Given the description of an element on the screen output the (x, y) to click on. 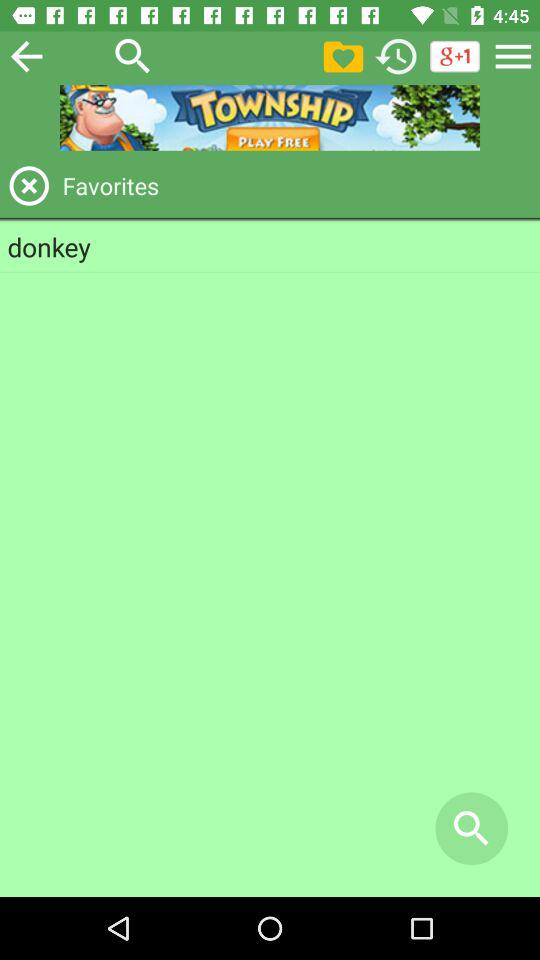
exit favorites (29, 185)
